Given the description of an element on the screen output the (x, y) to click on. 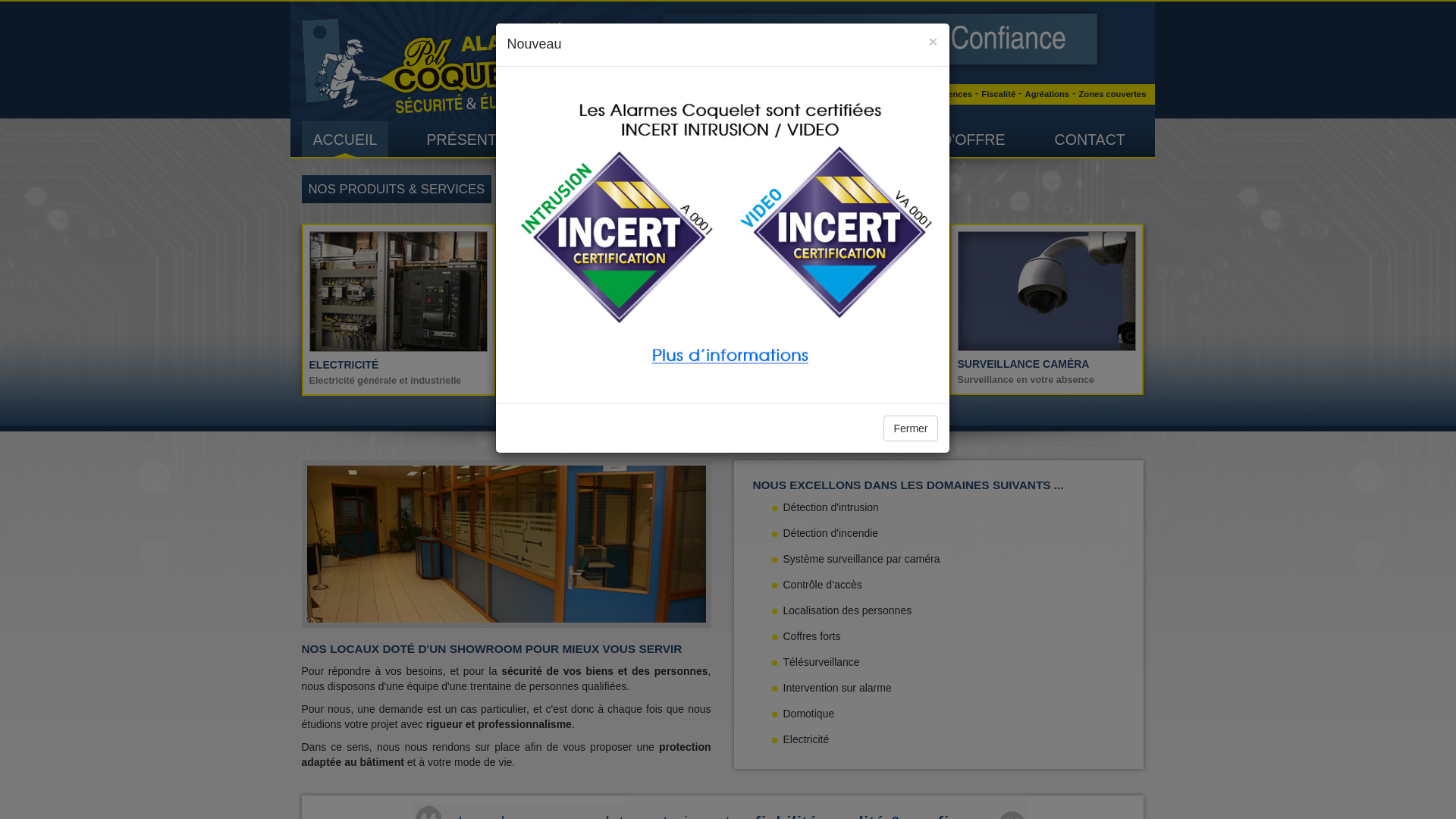
Intervention sur alarme Element type: hover (1012, 291)
Coffres forts Element type: hover (398, 290)
Intervention sur alarme Element type: hover (1034, 290)
CONTACT Element type: text (1089, 138)
Coffres forts Element type: hover (398, 291)
SERVICES Element type: text (770, 138)
Zones couvertes Element type: text (1111, 93)
Alarmes Coquelet Element type: hover (436, 65)
Offres d'emploi Element type: text (886, 93)
Coffres forts Element type: hover (1196, 290)
DEMANDE D'OFFRE Element type: text (933, 138)
PRODUITS Element type: text (633, 138)
Localisation personne Element type: hover (613, 290)
Fermer Element type: text (910, 428)
ACCUEIL Element type: text (345, 138)
Localisation personne Element type: hover (613, 291)
Alarmes Coquelet Element type: hover (436, 65)
